Given the description of an element on the screen output the (x, y) to click on. 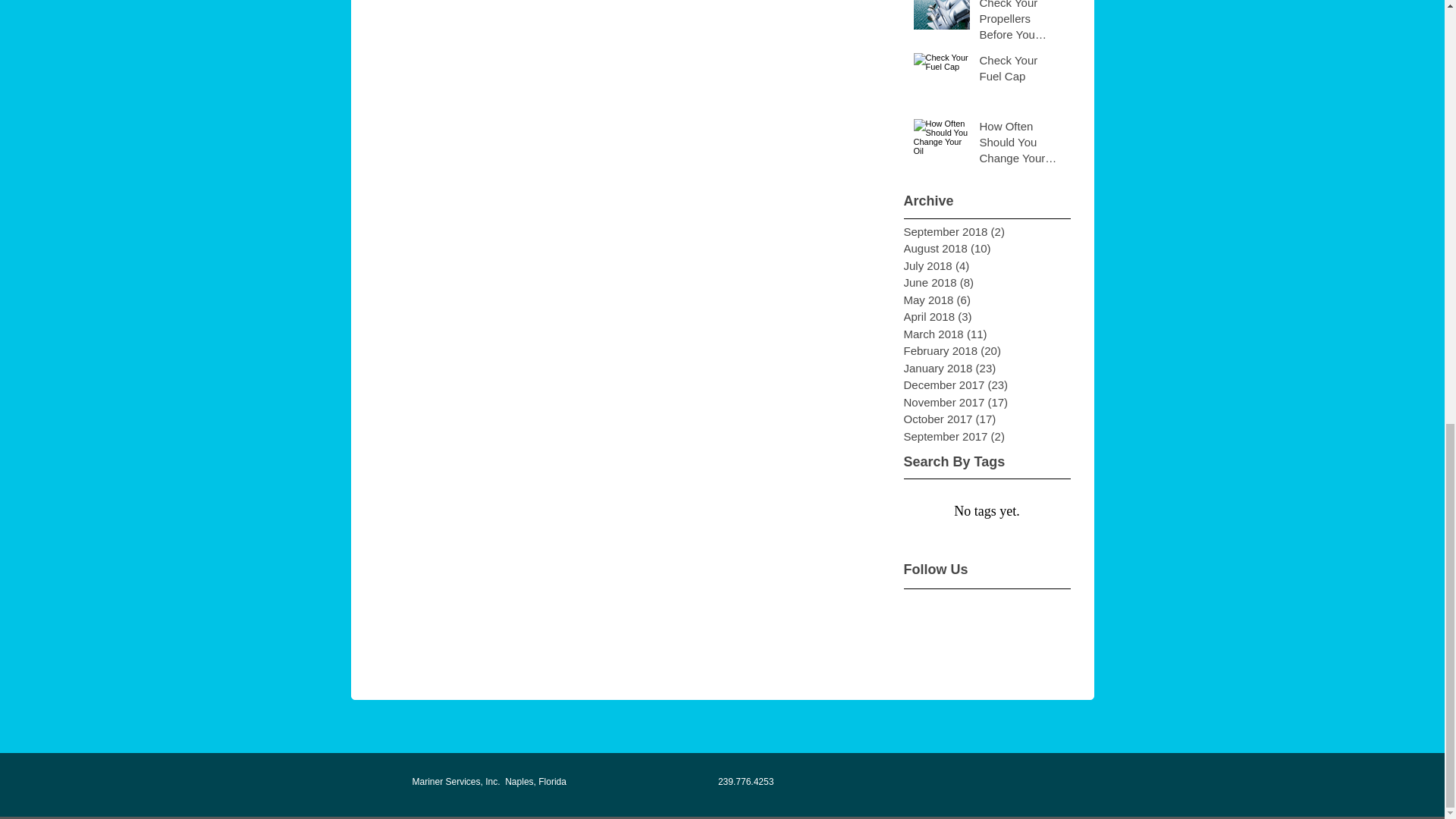
Check Your Fuel Cap (1020, 71)
How Often Should You Change Your Oil (1020, 144)
Check Your Propellers Before You Leave (1020, 24)
